Given the description of an element on the screen output the (x, y) to click on. 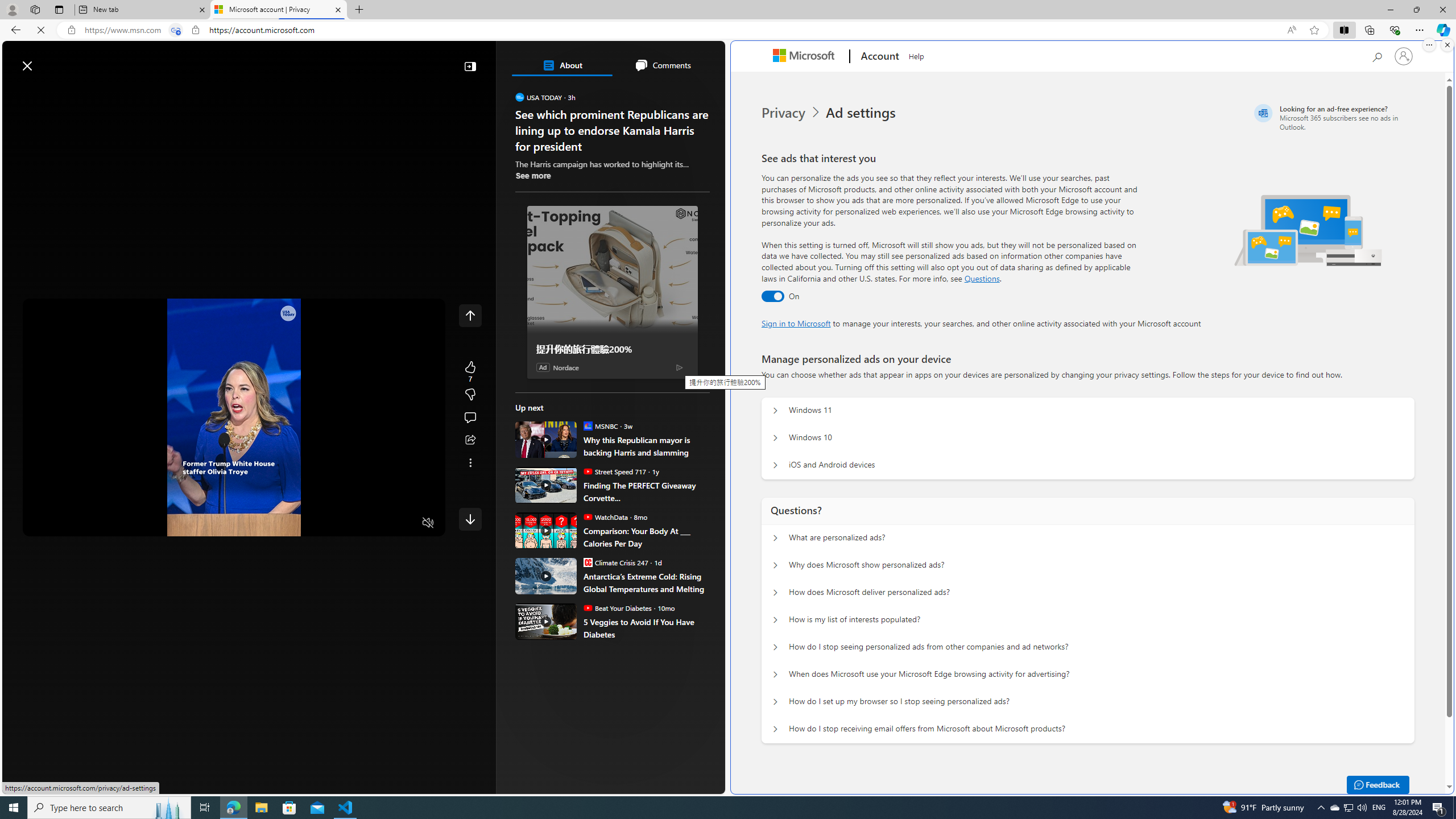
Sign in to Microsoft (796, 323)
Share this story (469, 440)
Progress Bar (234, 508)
Close split screen. (1447, 45)
Pause (39, 523)
Beat Your Diabetes (587, 607)
USA TODAY (519, 96)
